Given the description of an element on the screen output the (x, y) to click on. 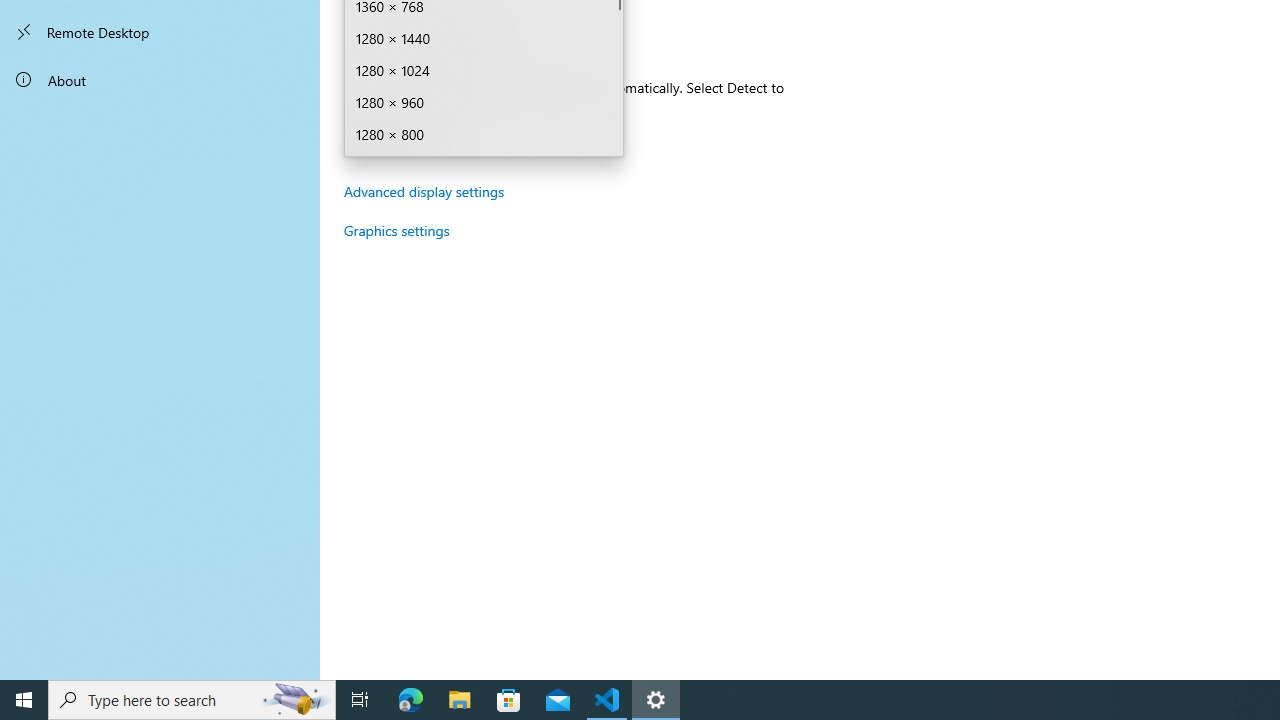
Advanced display settings (424, 191)
Detect (388, 138)
About (160, 79)
Graphics settings (397, 230)
